Given the description of an element on the screen output the (x, y) to click on. 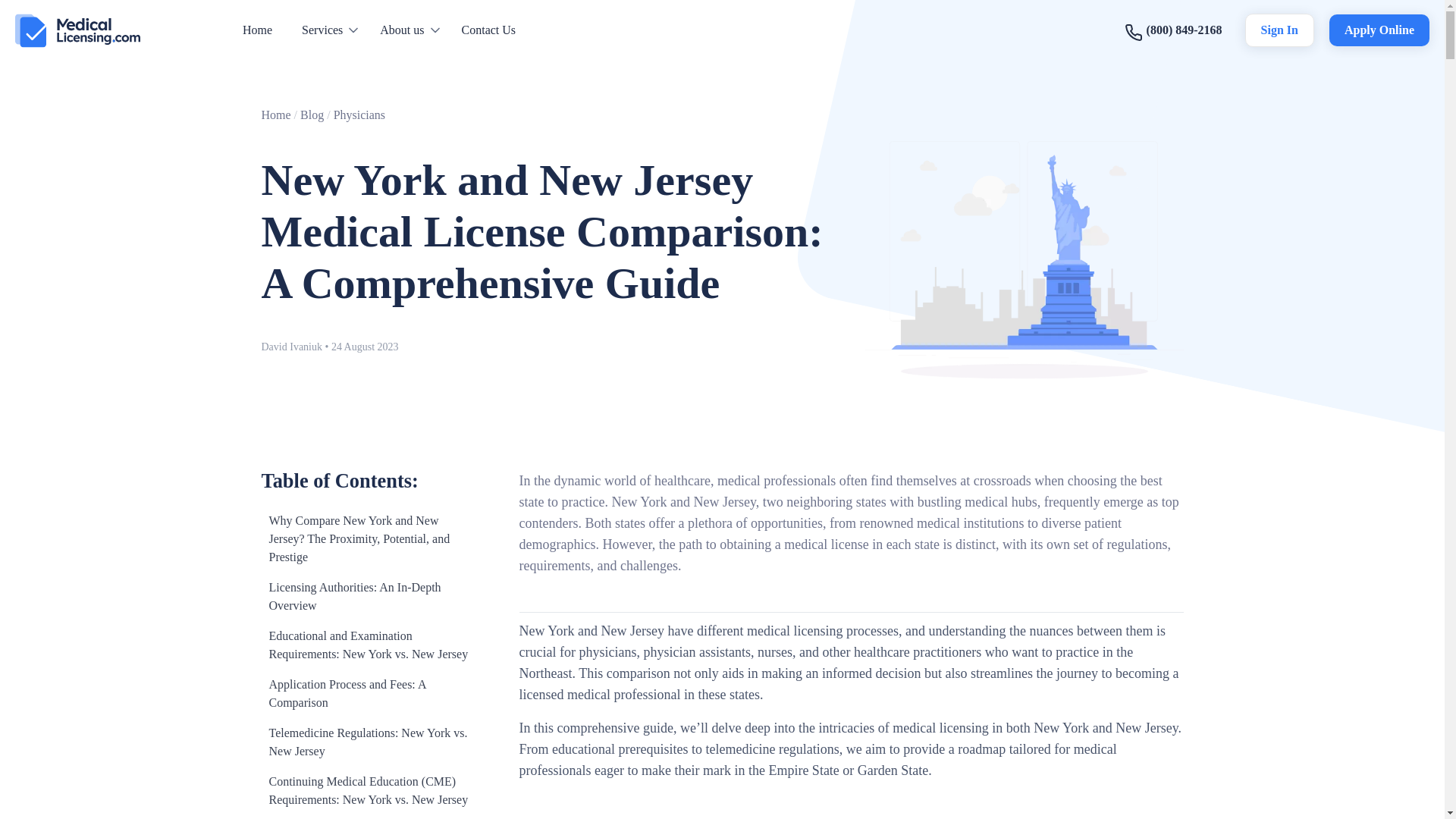
Sign In (1279, 29)
Blog (311, 114)
Contact Us (488, 29)
Home (257, 29)
Application Process and Fees: A Comparison (366, 693)
Apply Online (1379, 29)
Services (321, 29)
Application Process and Fees: A Comparison (366, 693)
Telemedicine Regulations: New York vs. New Jersey (366, 741)
About us (401, 29)
Licensing Authorities: An In-Depth Overview (366, 596)
Physicians (359, 114)
Telemedicine Regulations: New York vs. New Jersey (366, 741)
